Given the description of an element on the screen output the (x, y) to click on. 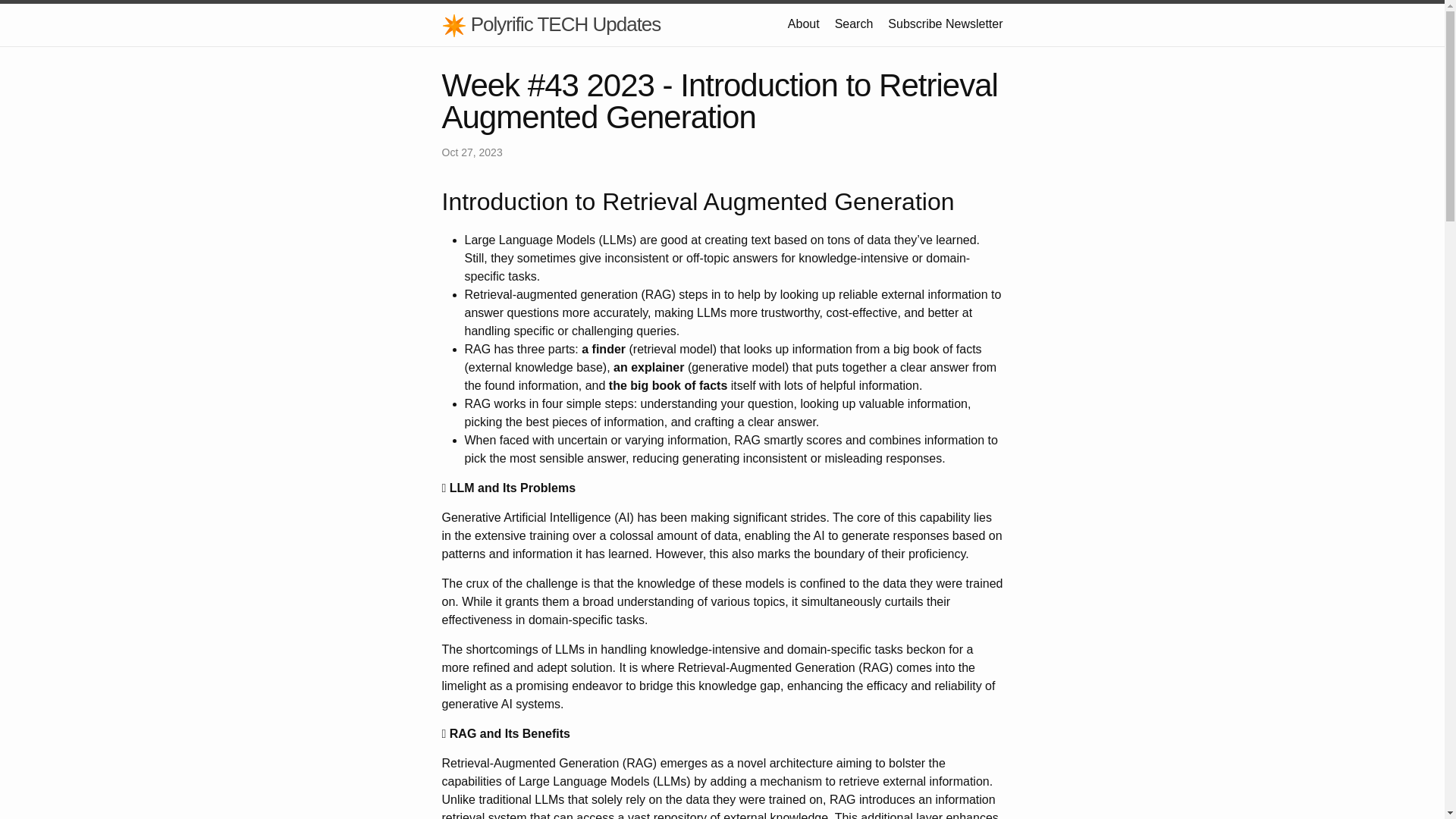
Polyrific TECH Updates (551, 24)
Search (853, 23)
About (803, 23)
Subscribe Newsletter (945, 23)
